Given the description of an element on the screen output the (x, y) to click on. 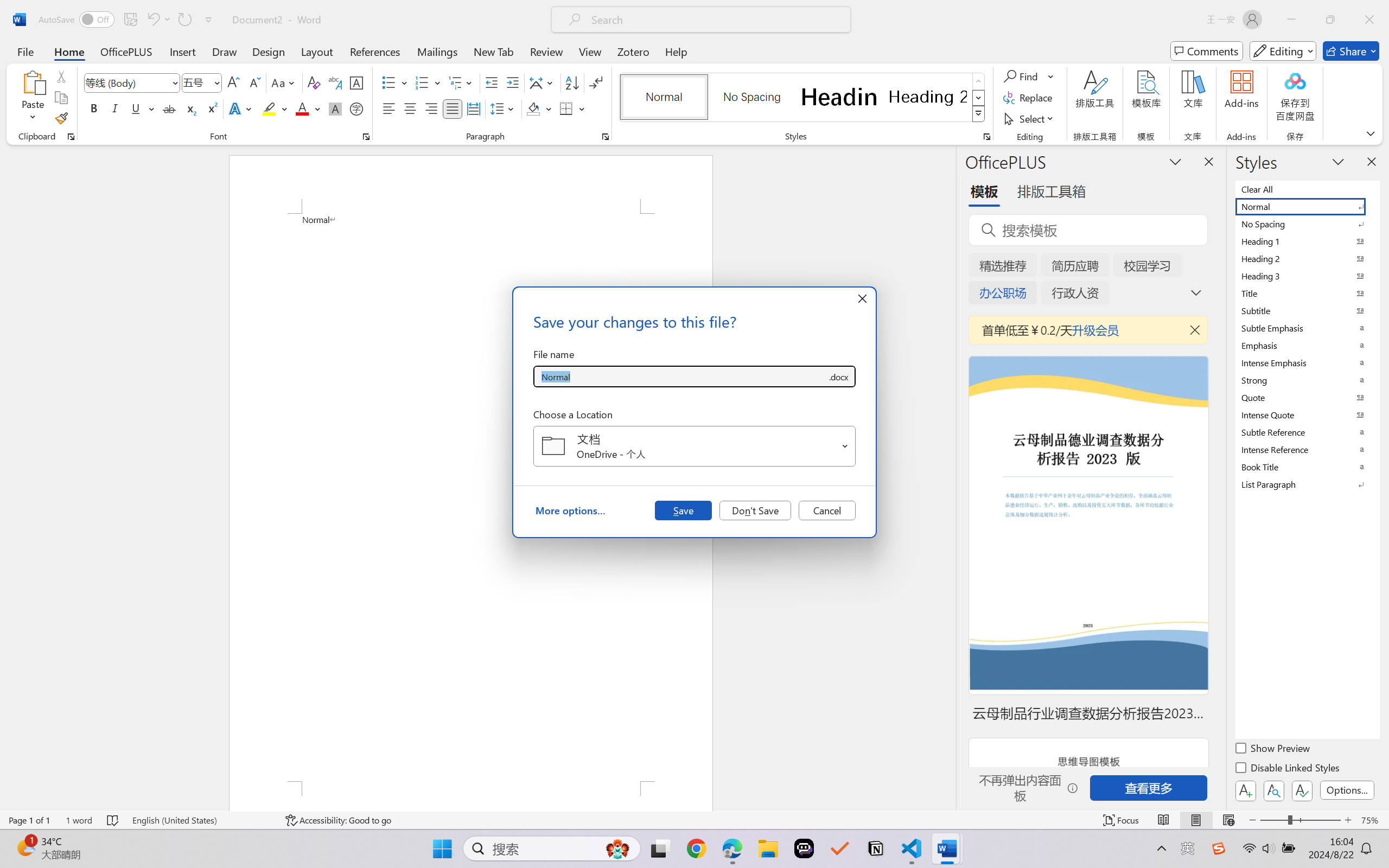
Align Left (388, 108)
Page Number Page 1 of 1 (29, 819)
Accessibility Checker Accessibility: Good to go (338, 819)
Subtle Reference (1306, 431)
Increase Indent (512, 82)
Clear All (1306, 188)
Numbering (428, 82)
Zoom (1300, 819)
Subscript (190, 108)
Sort... (571, 82)
Row Down (978, 97)
